Given the description of an element on the screen output the (x, y) to click on. 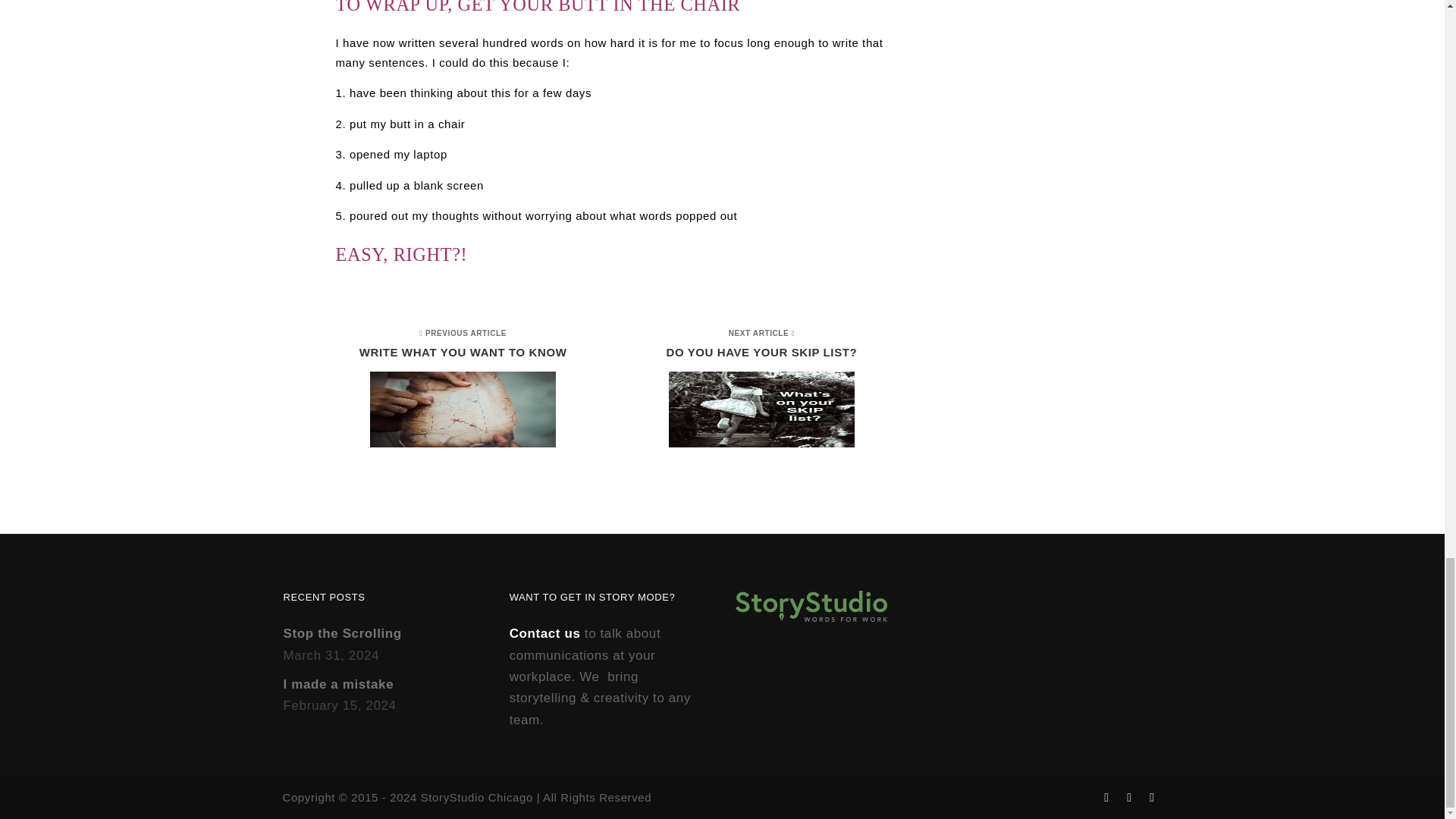
Contact us (754, 389)
Stop the Scrolling (544, 633)
I made a mistake (342, 633)
I made a mistake (338, 684)
Instagram (338, 684)
Stop the Scrolling (469, 389)
